Given the description of an element on the screen output the (x, y) to click on. 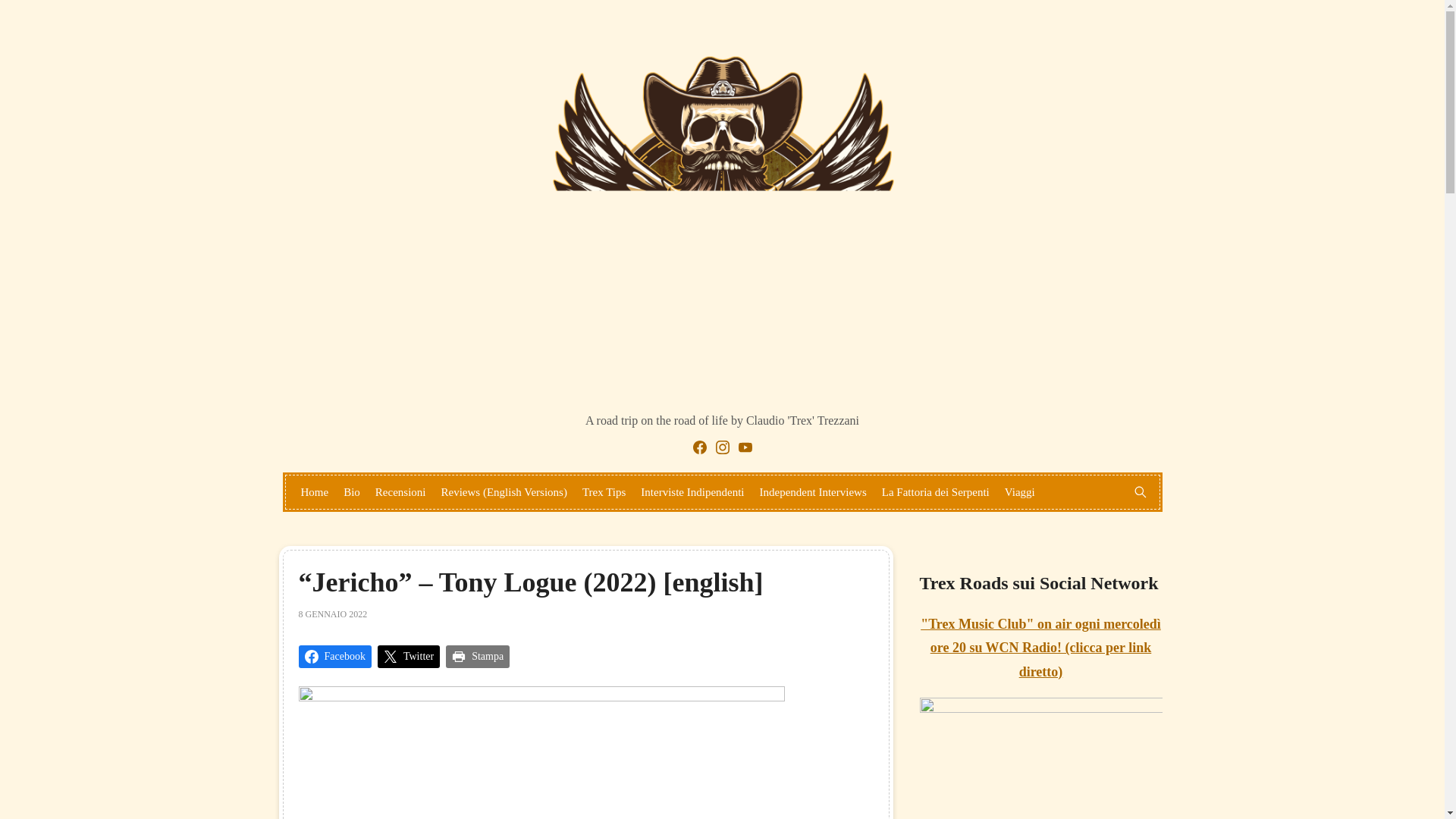
Home (314, 491)
Stampa (477, 656)
Youtube (745, 447)
Twitter (408, 656)
Viaggi (1019, 491)
Interviste Indipendenti (692, 491)
Trex Tips (604, 491)
La Fattoria dei Serpenti (936, 491)
8 GENNAIO 2022 (333, 613)
Facebook (700, 447)
